Given the description of an element on the screen output the (x, y) to click on. 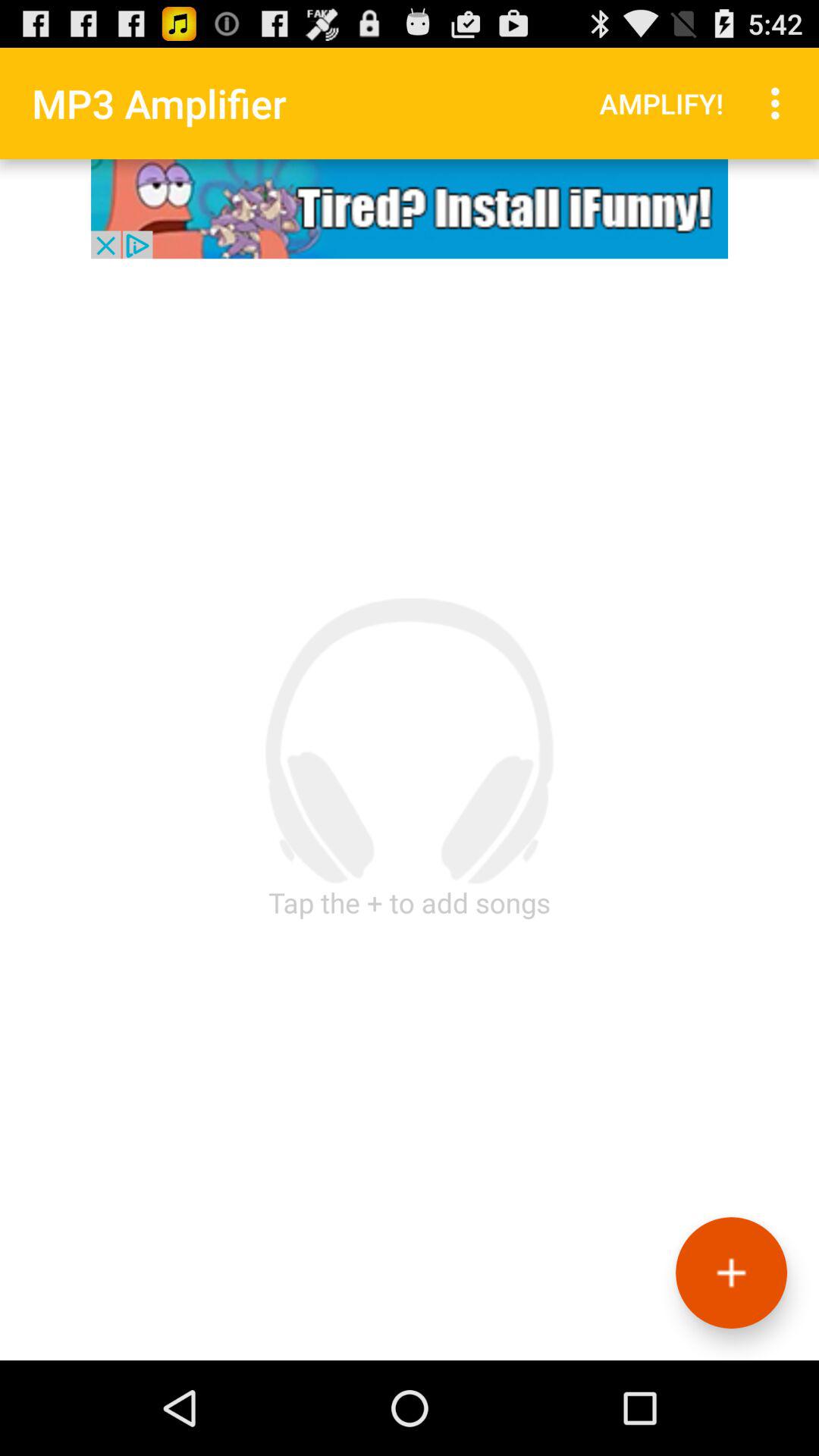
add song (731, 1272)
